Given the description of an element on the screen output the (x, y) to click on. 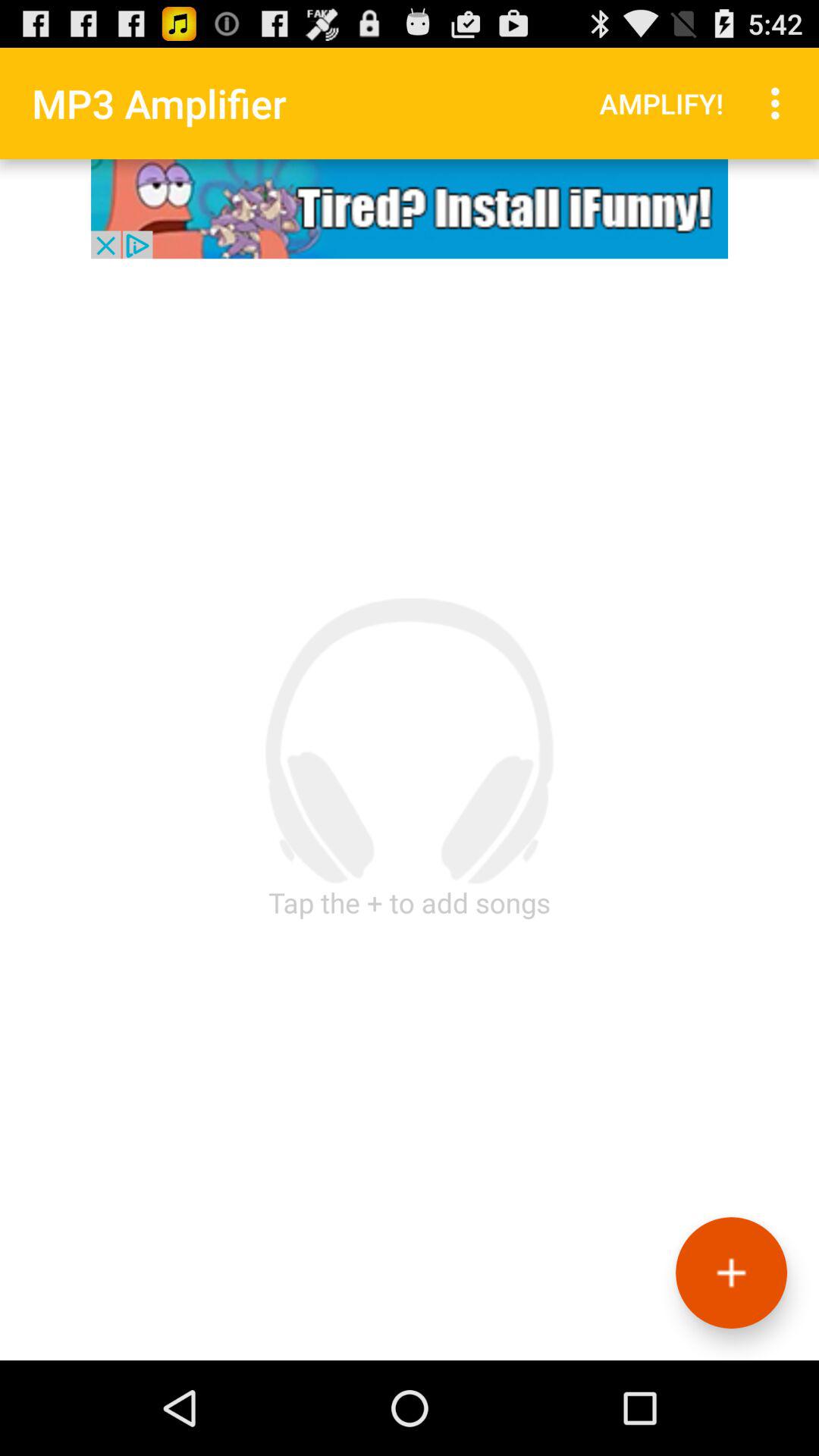
add song (731, 1272)
